Given the description of an element on the screen output the (x, y) to click on. 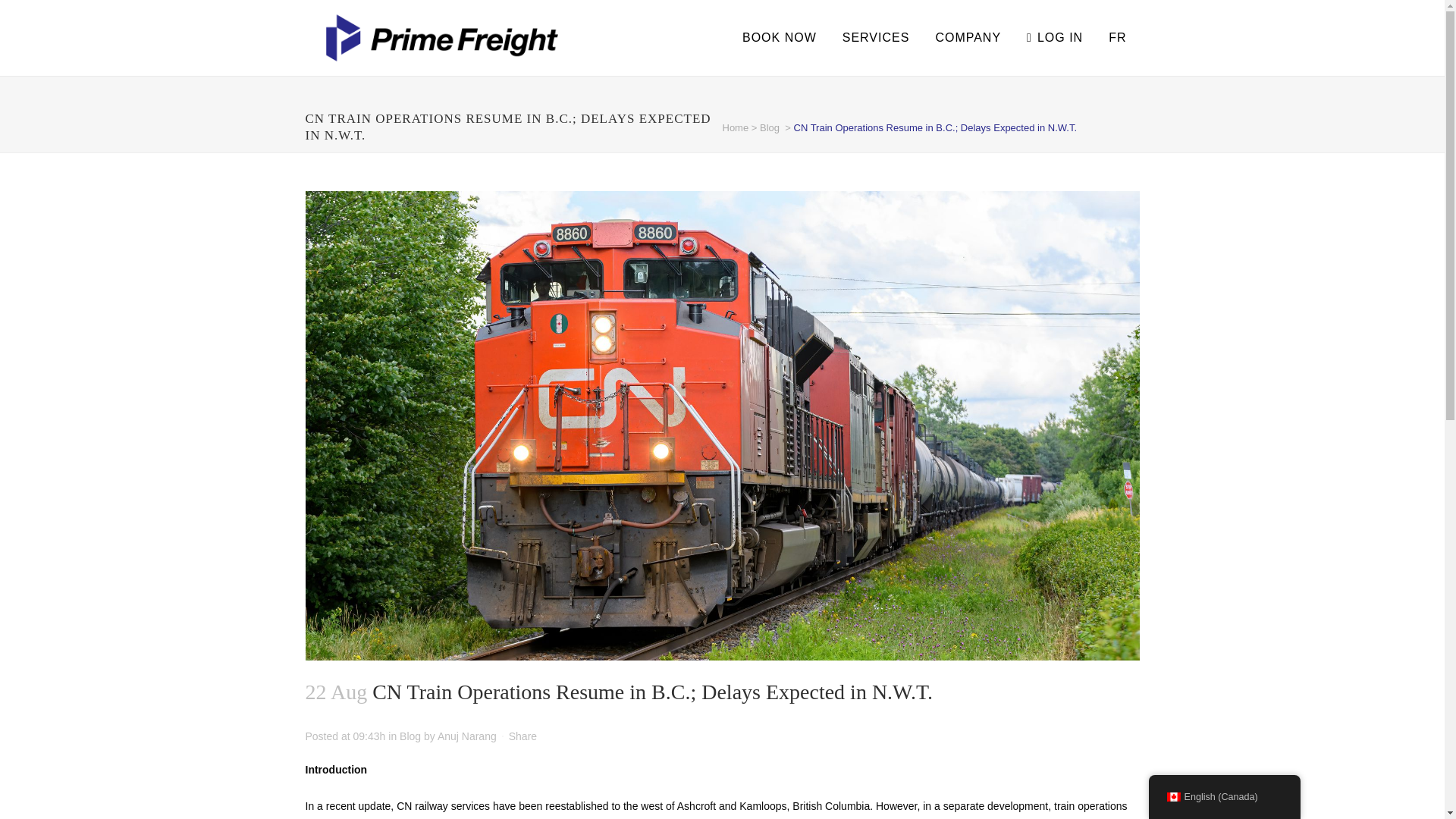
COMPANY (967, 38)
BOOK NOW (779, 38)
SERVICES (876, 38)
LOG IN (1054, 38)
